Given the description of an element on the screen output the (x, y) to click on. 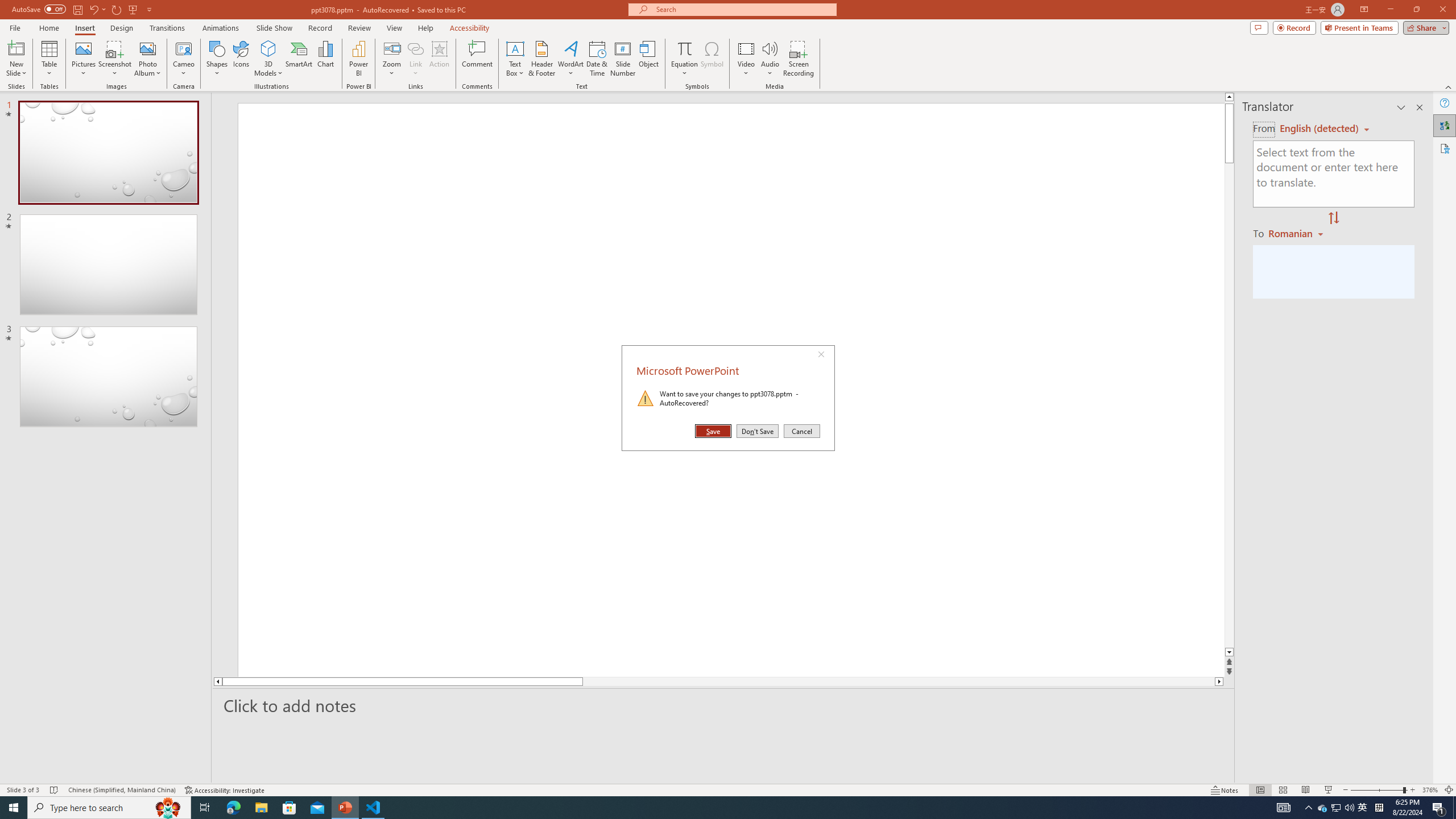
Zoom 376% (1430, 790)
Date & Time... (596, 58)
Cancel (801, 431)
Running applications (700, 807)
Equation (683, 48)
Comment (476, 58)
